Given the description of an element on the screen output the (x, y) to click on. 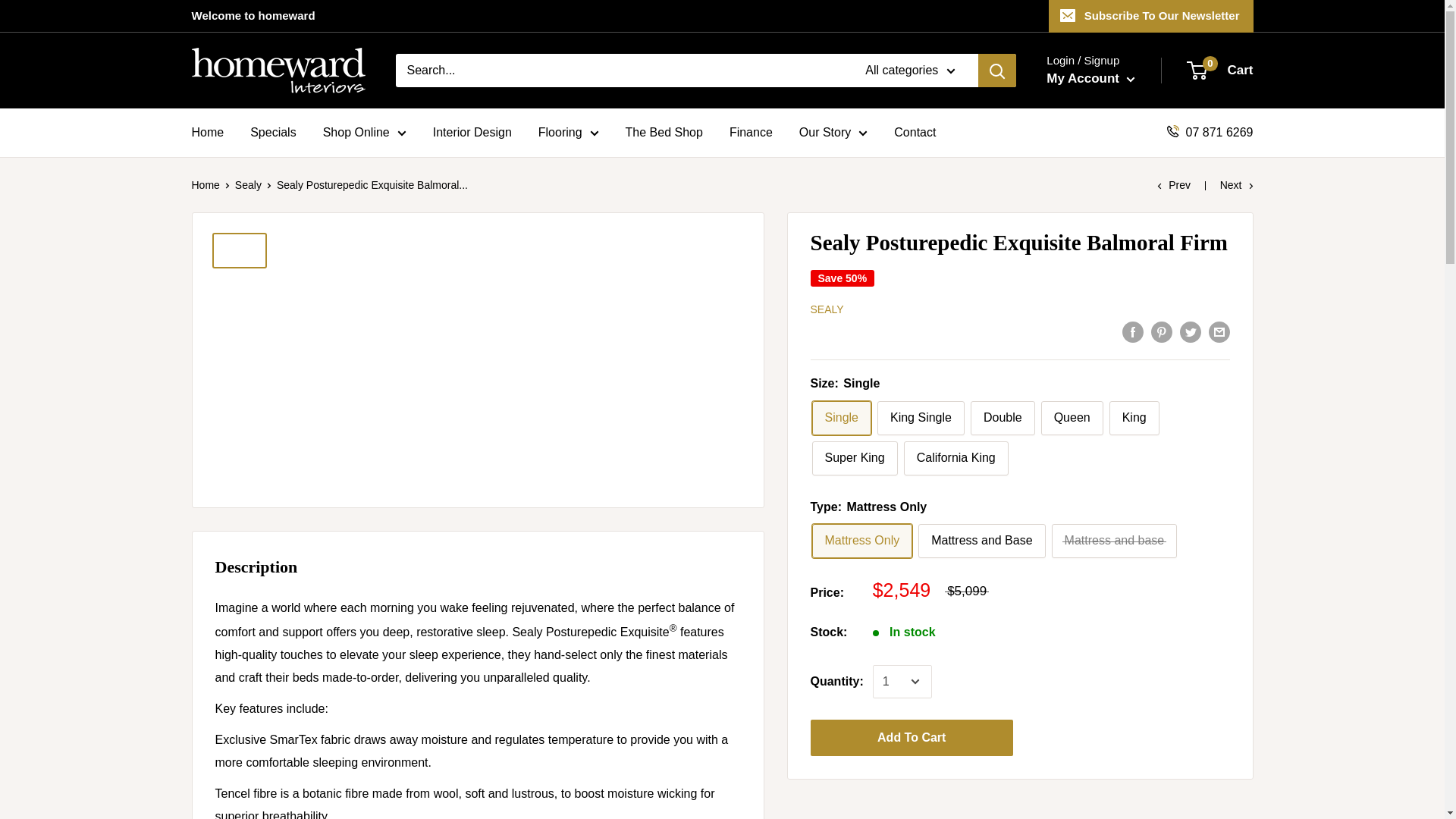
Super King (853, 458)
King Single (920, 417)
Mattress Only (861, 540)
California King (956, 458)
Single (840, 417)
King (1133, 417)
Double (1003, 417)
Subscribe To Our Newsletter (1150, 15)
Mattress and base (1114, 540)
Queen (1072, 417)
Mattress and Base (981, 540)
